Given the description of an element on the screen output the (x, y) to click on. 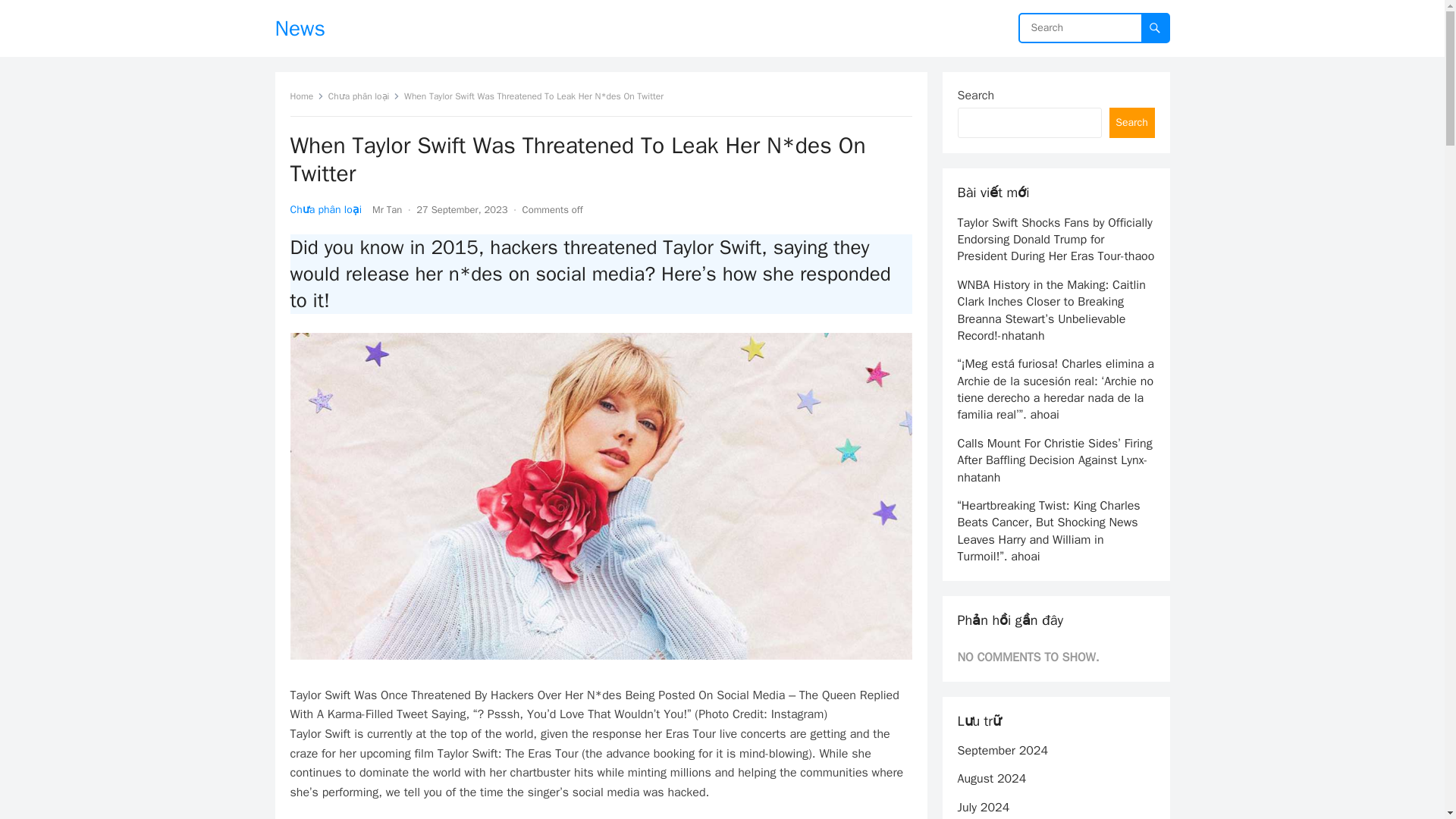
Mr Tan (386, 209)
News (299, 28)
Posts by Mr Tan (386, 209)
Home (306, 96)
